Given the description of an element on the screen output the (x, y) to click on. 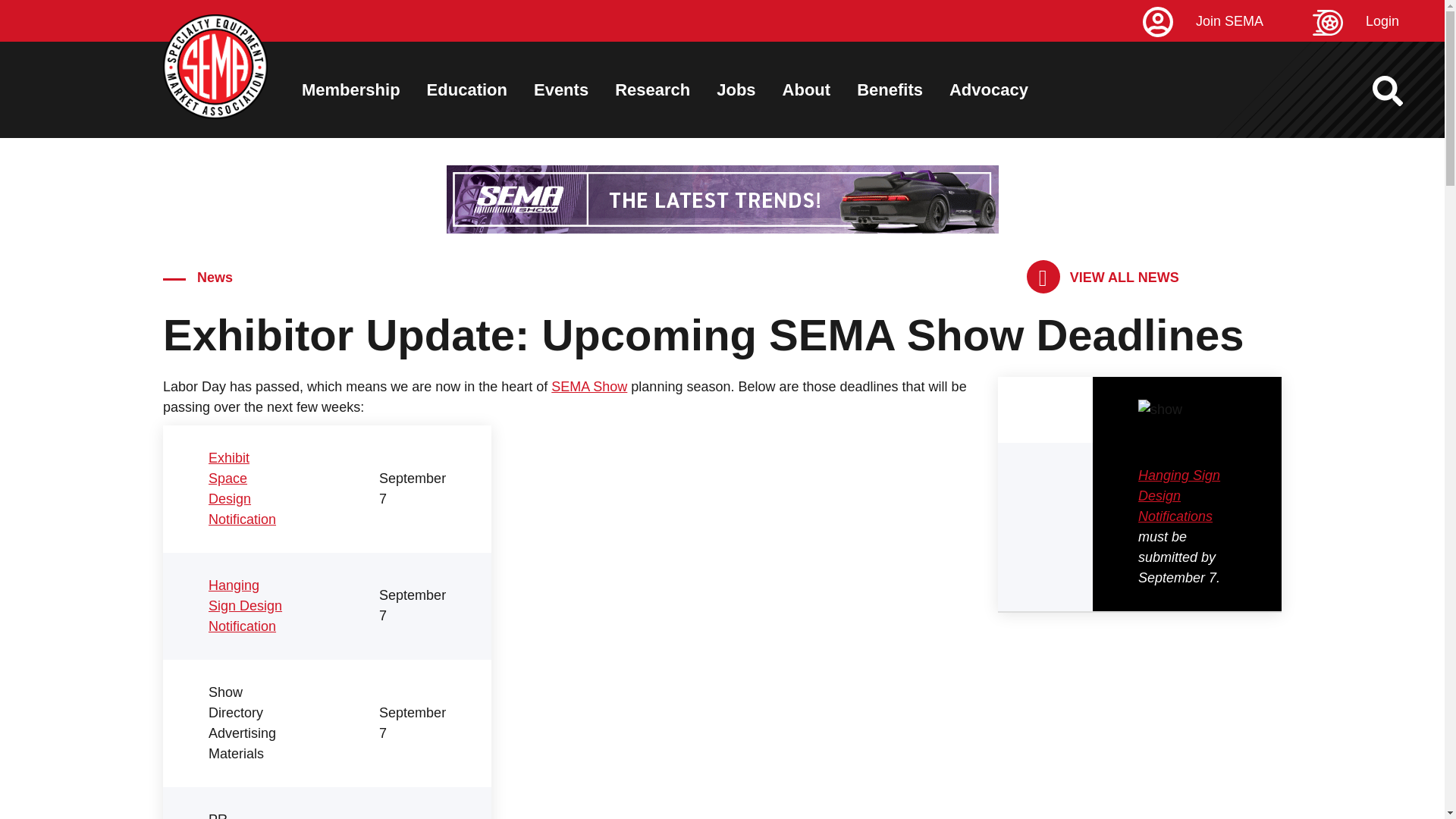
SEMA Show (589, 386)
Search Sema.org (1401, 91)
Join SEMA (1225, 20)
Benefits (889, 89)
Hanging Sign Design Notifications (1179, 495)
Hanging Sign Design Notification (245, 605)
Login (1378, 20)
Membership (350, 89)
SEMA Show 2024 Attendee (721, 199)
Advocacy (988, 89)
VIEW ALL NEWS (1102, 277)
Research (652, 89)
Education (466, 89)
eNews archive (1102, 277)
